Given the description of an element on the screen output the (x, y) to click on. 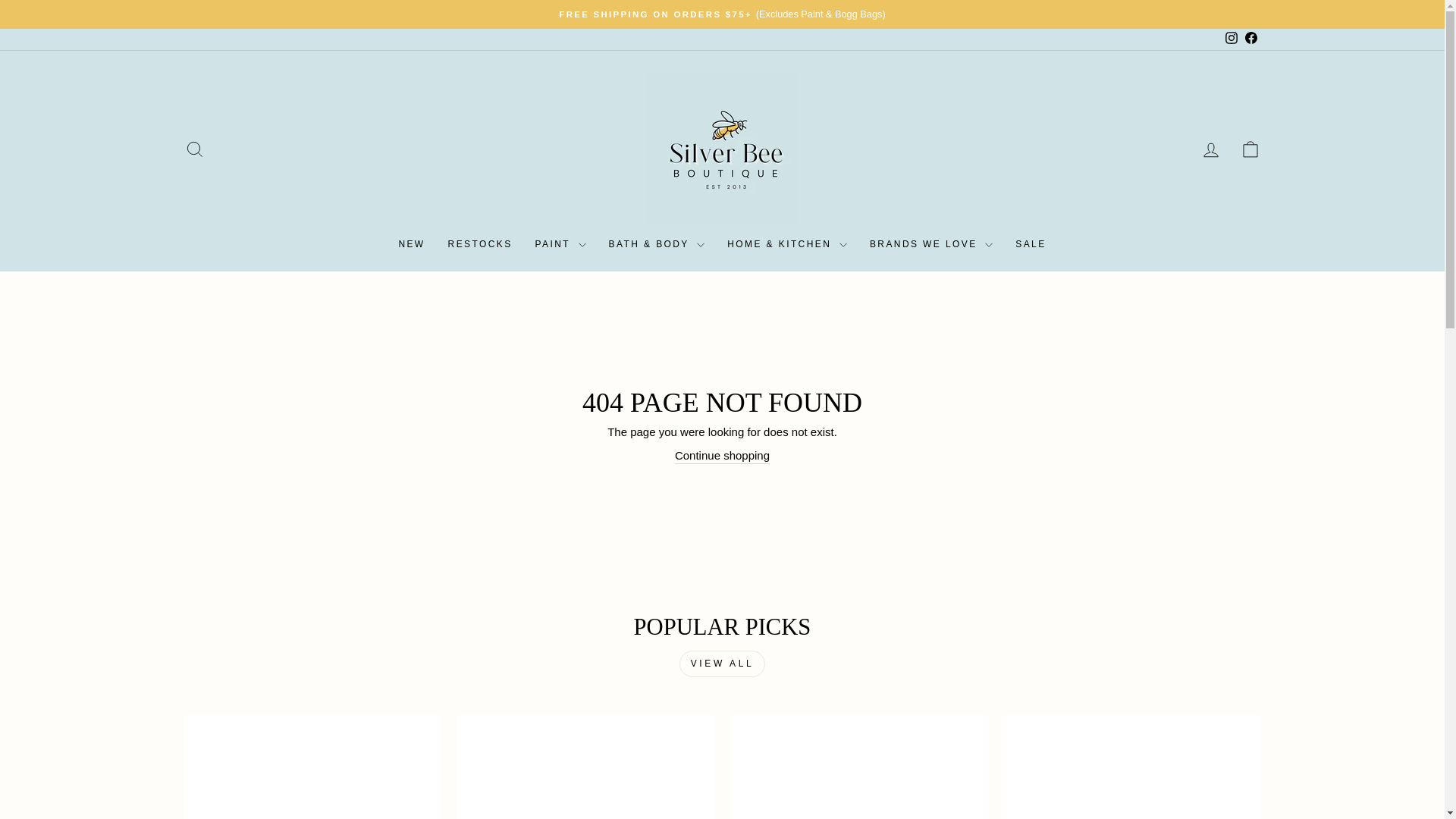
Silver Bee Boutique on Instagram (1230, 38)
instagram (1231, 37)
Silver Bee Boutique on Facebook (1250, 38)
ICON-SEARCH (194, 148)
ICON-BAG-MINIMAL (1249, 148)
ACCOUNT (1210, 149)
